Given the description of an element on the screen output the (x, y) to click on. 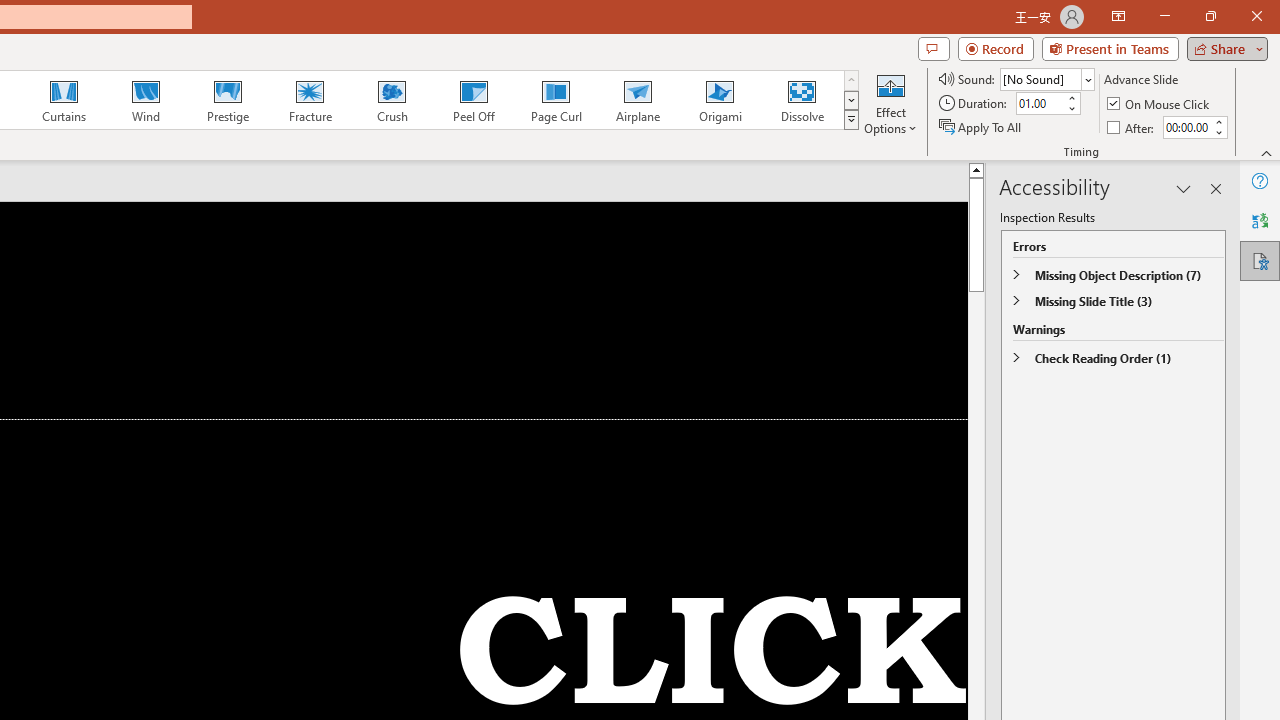
Origami (719, 100)
Fracture (309, 100)
Sound (1046, 78)
Wind (145, 100)
Airplane (637, 100)
